Given the description of an element on the screen output the (x, y) to click on. 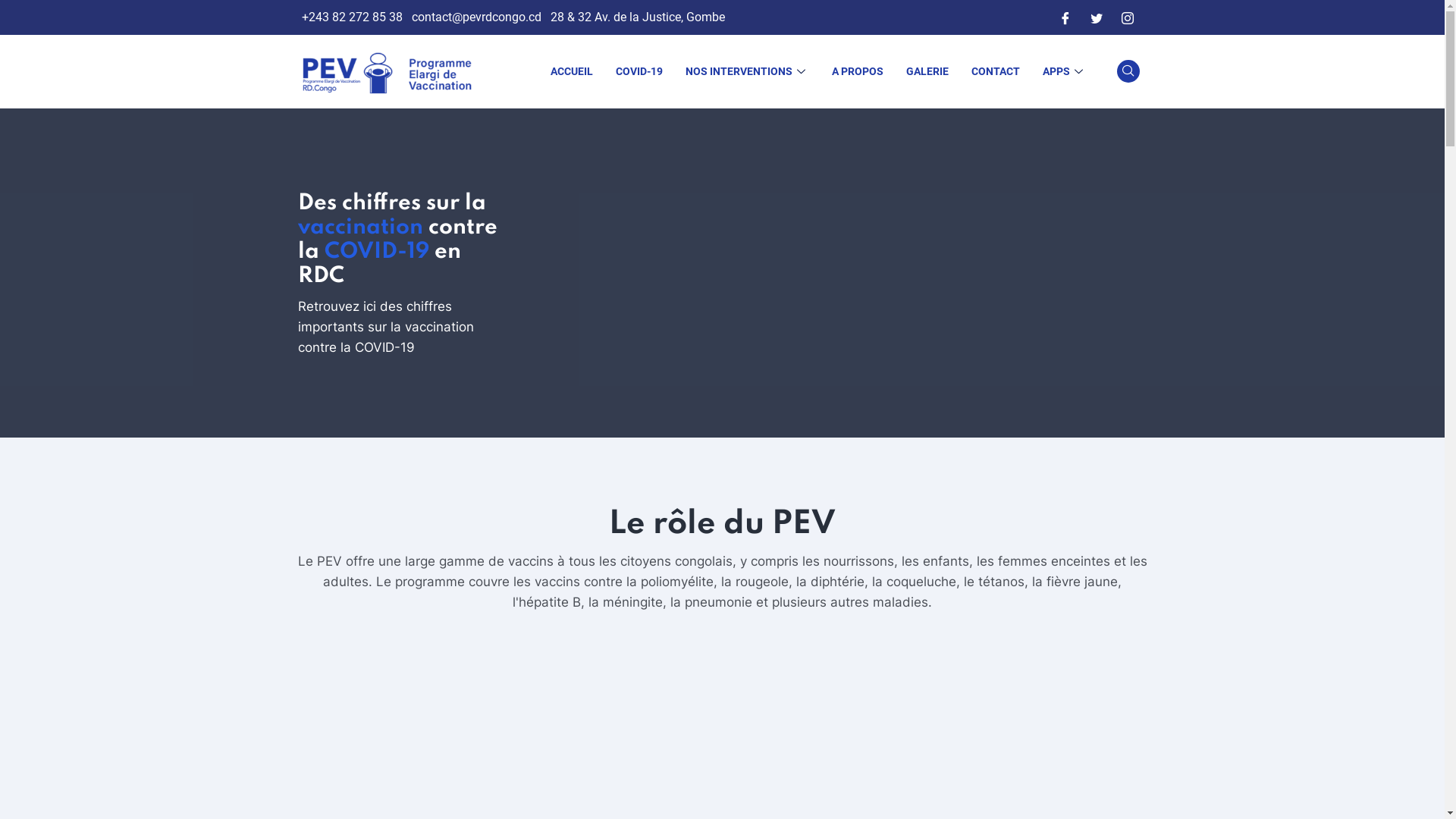
GALERIE Element type: text (927, 70)
+243 82 272 85 38 Element type: text (351, 17)
contact@pevrdcongo.cd Element type: text (475, 17)
CONTACT Element type: text (995, 70)
APPS Element type: text (1064, 70)
ACCUEIL Element type: text (570, 70)
COVID-19 Element type: text (638, 70)
A PROPOS Element type: text (857, 70)
NOS INTERVENTIONS Element type: text (746, 70)
